Given the description of an element on the screen output the (x, y) to click on. 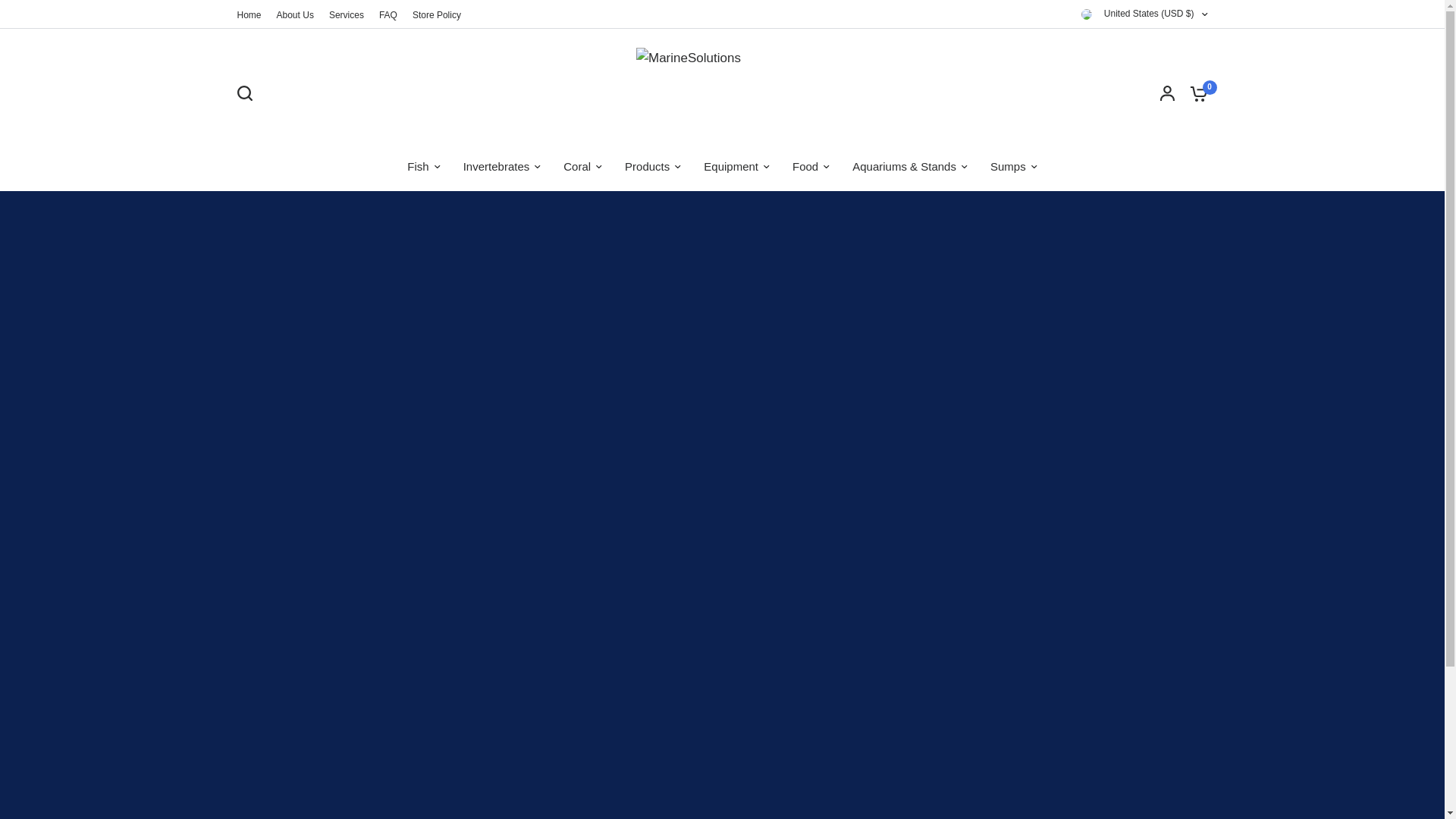
Home (247, 14)
FAQ (387, 14)
Home (247, 14)
Services (346, 14)
Services (346, 14)
Store Policy (436, 14)
FAQ (387, 14)
About Us (295, 14)
About Us (295, 14)
Store Policy (436, 14)
